Given the description of an element on the screen output the (x, y) to click on. 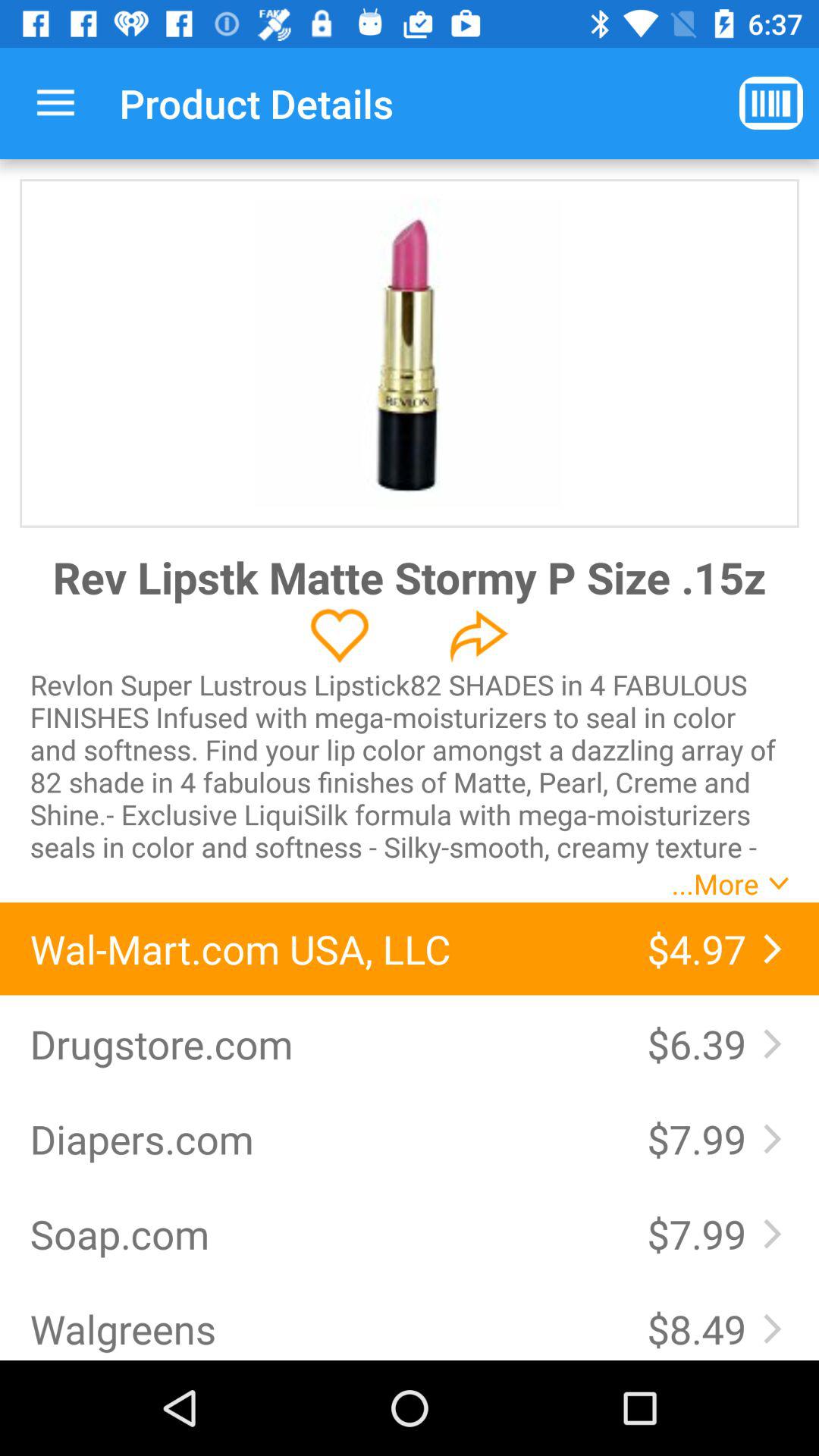
share the article (479, 636)
